Given the description of an element on the screen output the (x, y) to click on. 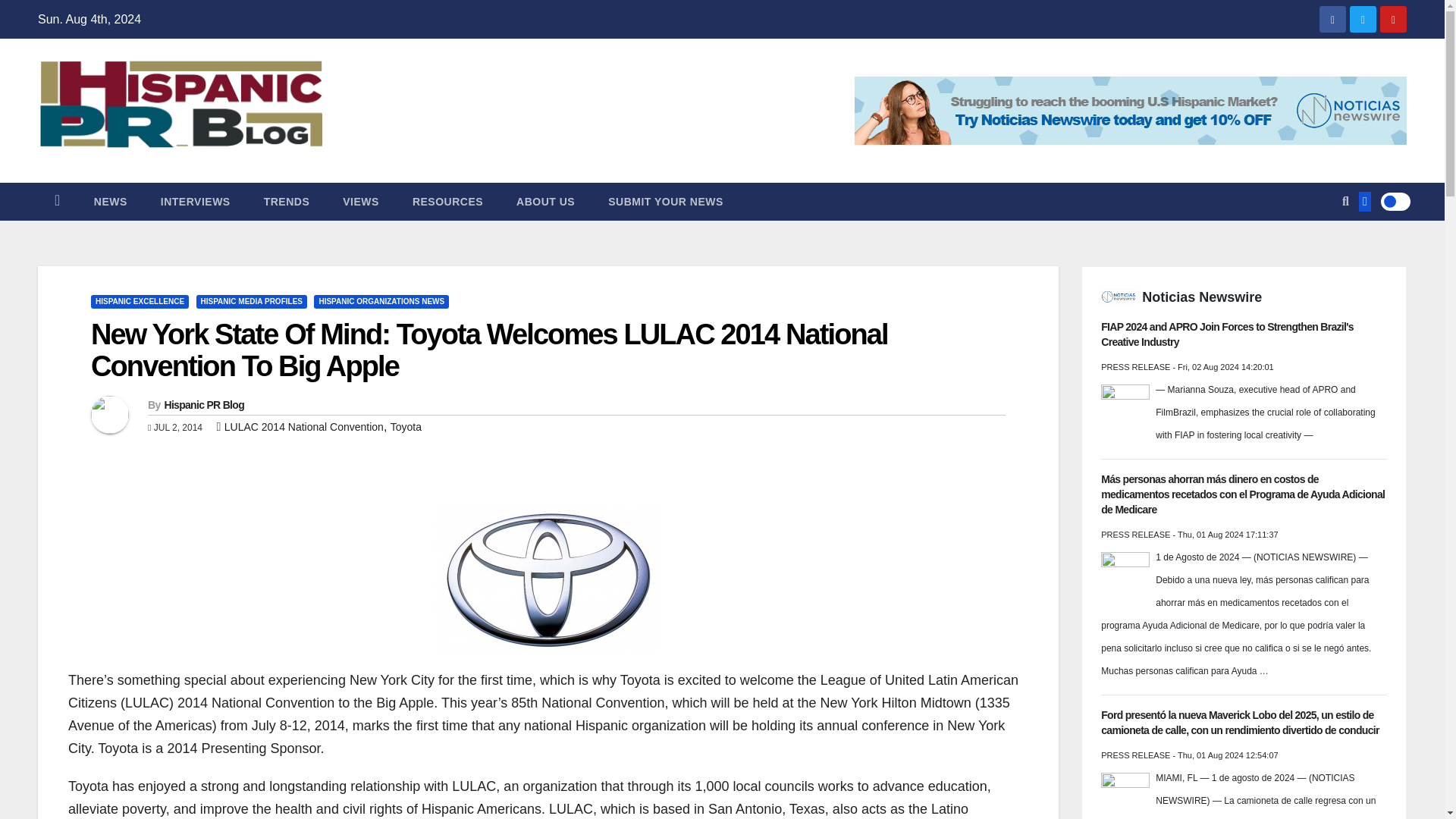
Home (57, 201)
TRENDS (286, 201)
INTERVIEWS (195, 201)
NEWS (110, 201)
Interviews (195, 201)
News (110, 201)
RESOURCES (447, 201)
Trends (286, 201)
VIEWS (361, 201)
